Given the description of an element on the screen output the (x, y) to click on. 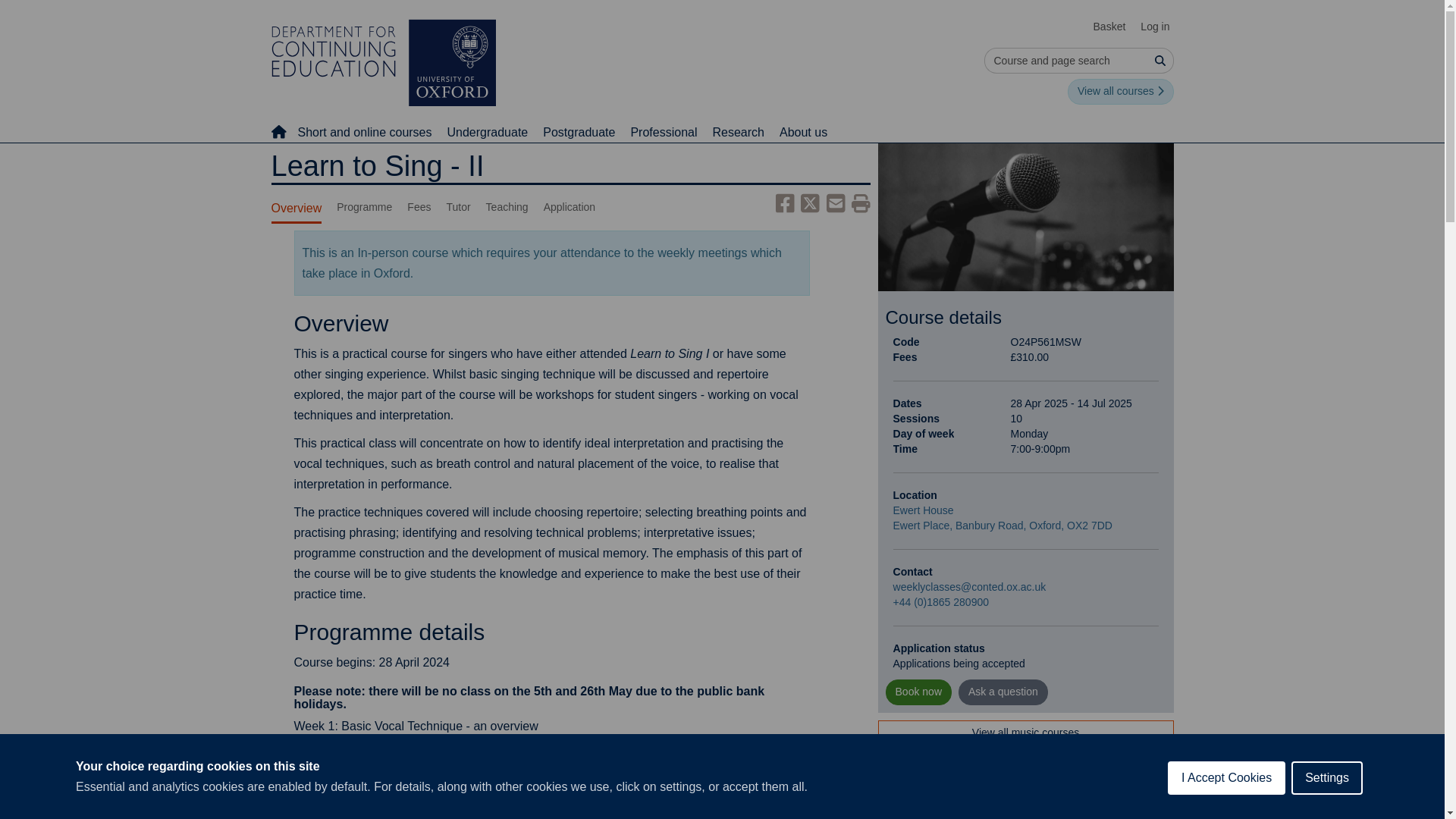
Log in (1154, 26)
Basket (1110, 26)
View all courses (1120, 91)
Short and online courses (363, 132)
